Given the description of an element on the screen output the (x, y) to click on. 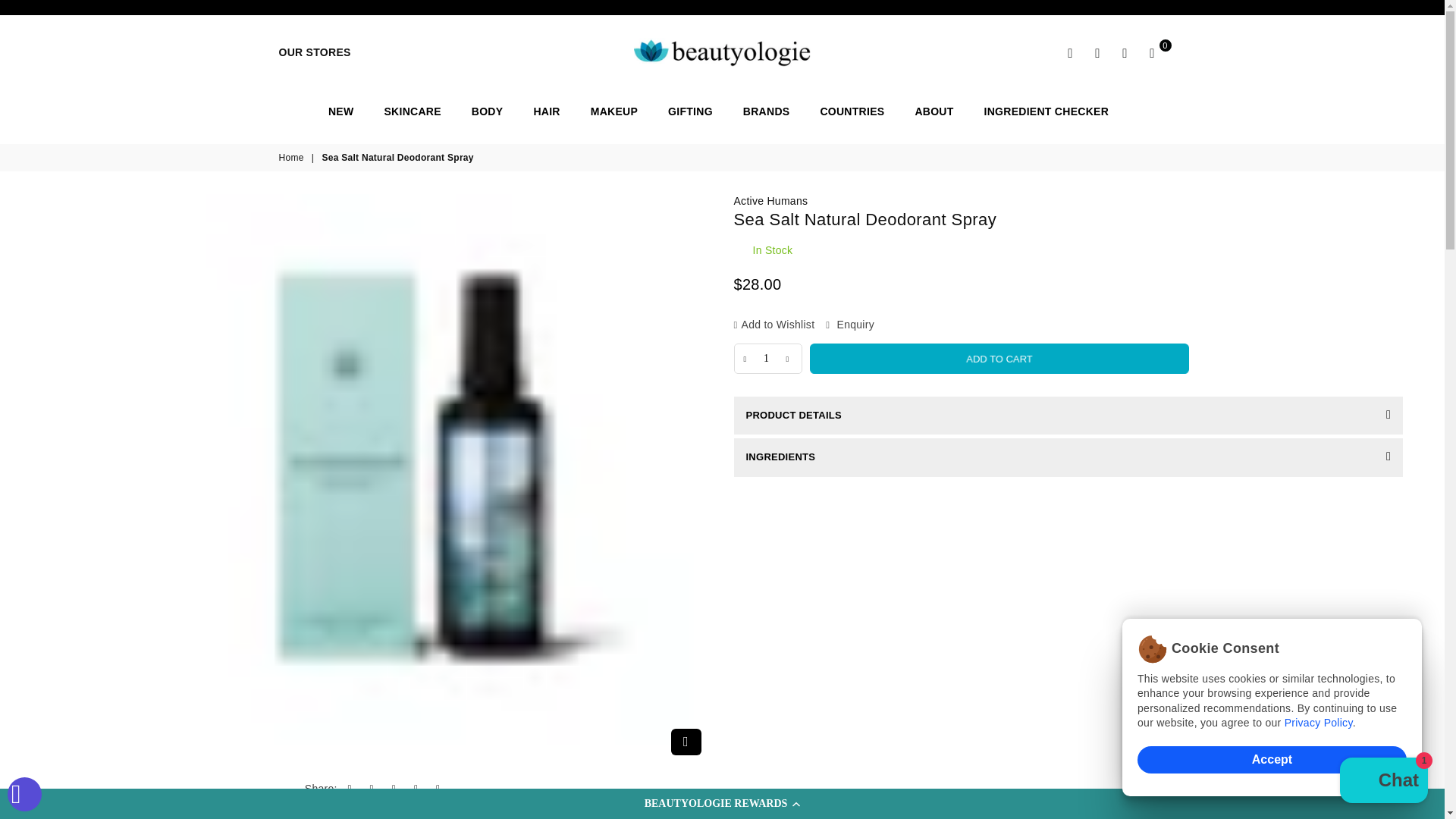
Settings (1098, 52)
OUR STORES (314, 51)
BEAUTYOLOGIE (722, 52)
Cart (1152, 52)
0 (1152, 52)
NEW (341, 111)
Quantity (767, 358)
Back to the home page (292, 157)
SKINCARE (411, 111)
Search (1070, 52)
Wishlist (1125, 52)
